Given the description of an element on the screen output the (x, y) to click on. 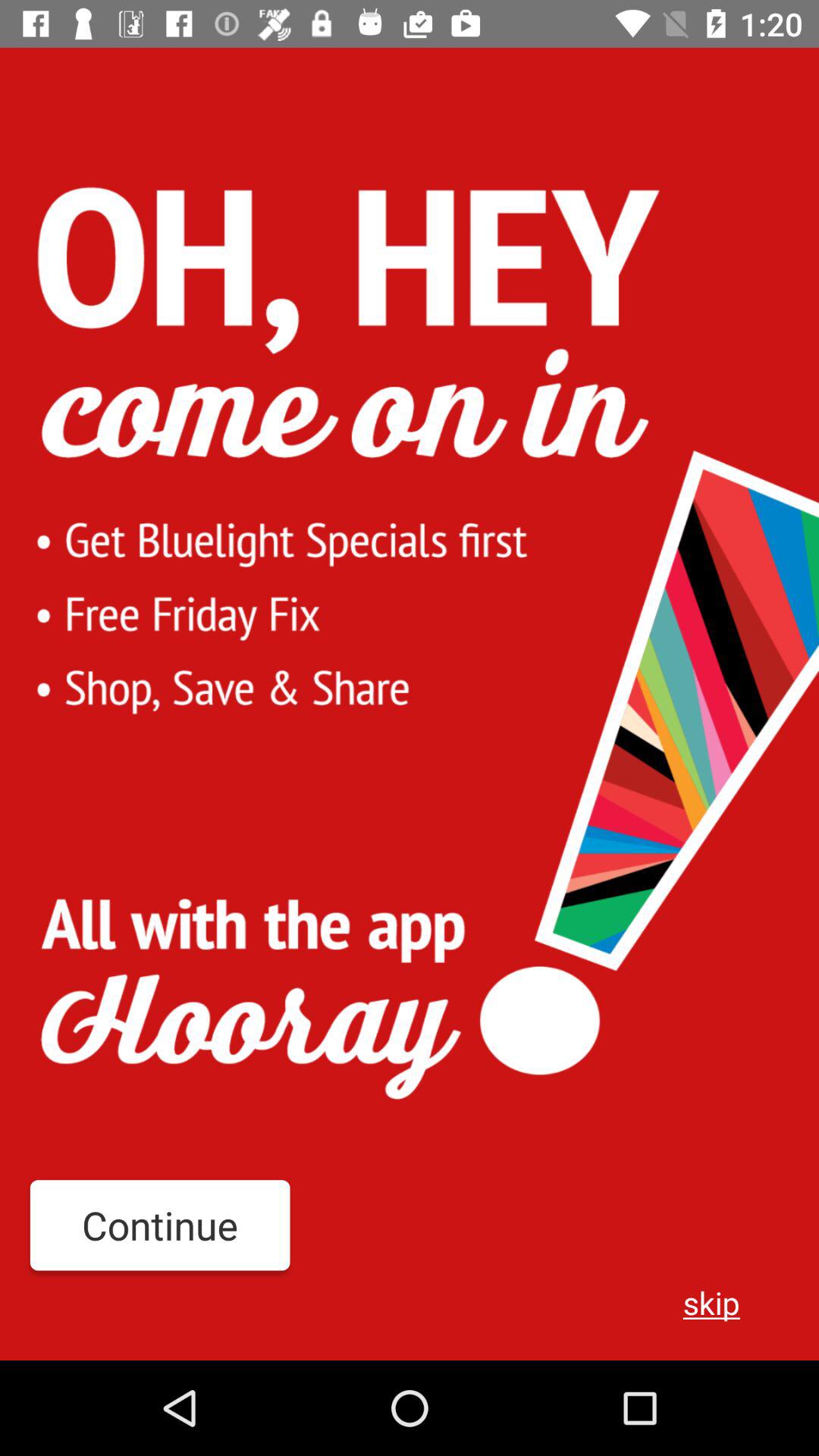
turn off the continue (160, 1225)
